Given the description of an element on the screen output the (x, y) to click on. 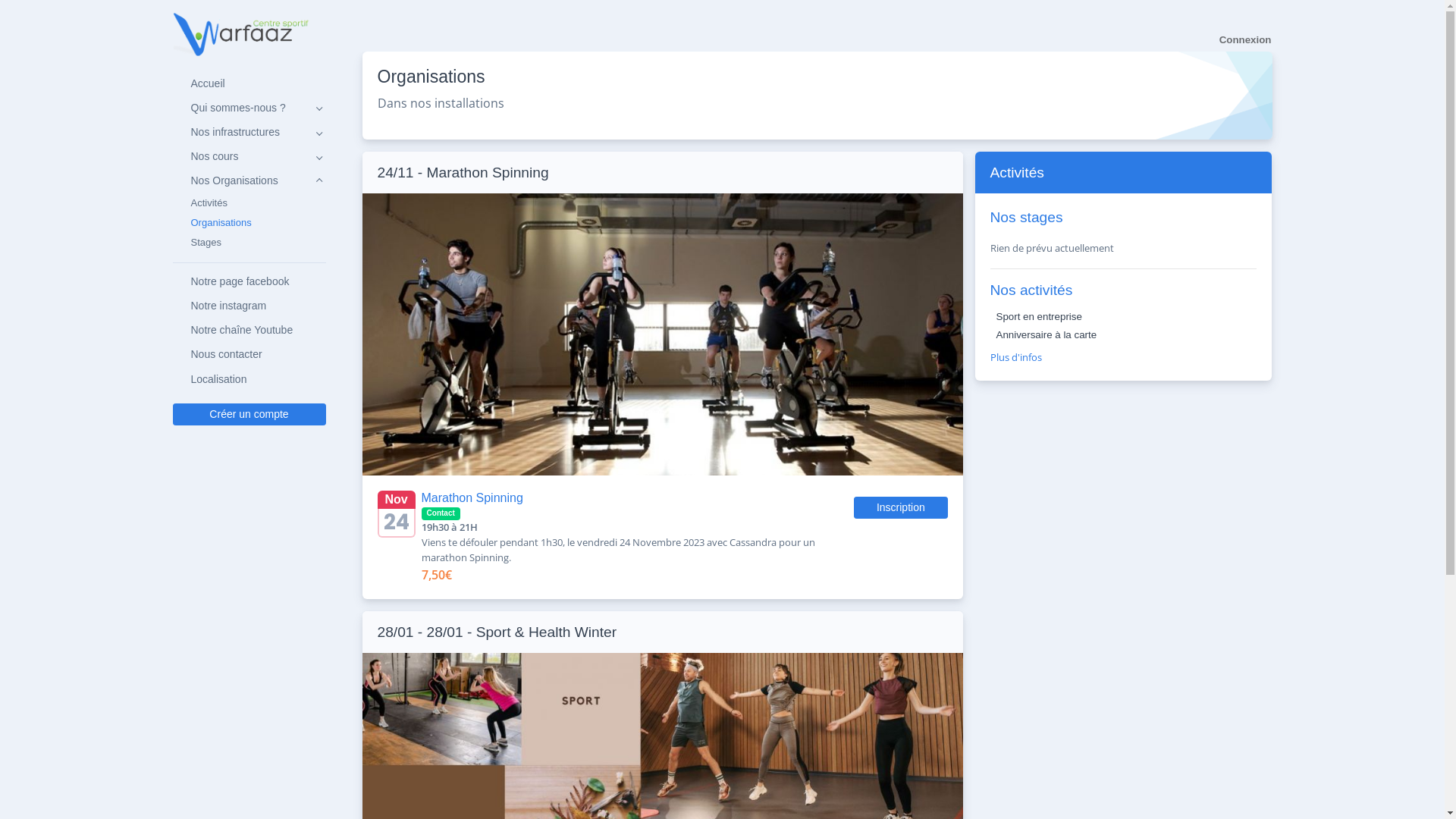
Notre instagram Element type: text (249, 305)
Notre page facebook Element type: text (249, 281)
Qui sommes-nous ? Element type: text (249, 107)
Nos Organisations Element type: text (249, 181)
Nos infrastructures Element type: text (249, 131)
Localisation Element type: text (249, 379)
Stages Element type: text (249, 242)
Nos cours Element type: text (249, 156)
Nous contacter Element type: text (249, 354)
Inscription Element type: text (900, 507)
Plus d'infos Element type: text (1015, 357)
Organisations Element type: text (249, 222)
Accueil Element type: text (249, 83)
